Given the description of an element on the screen output the (x, y) to click on. 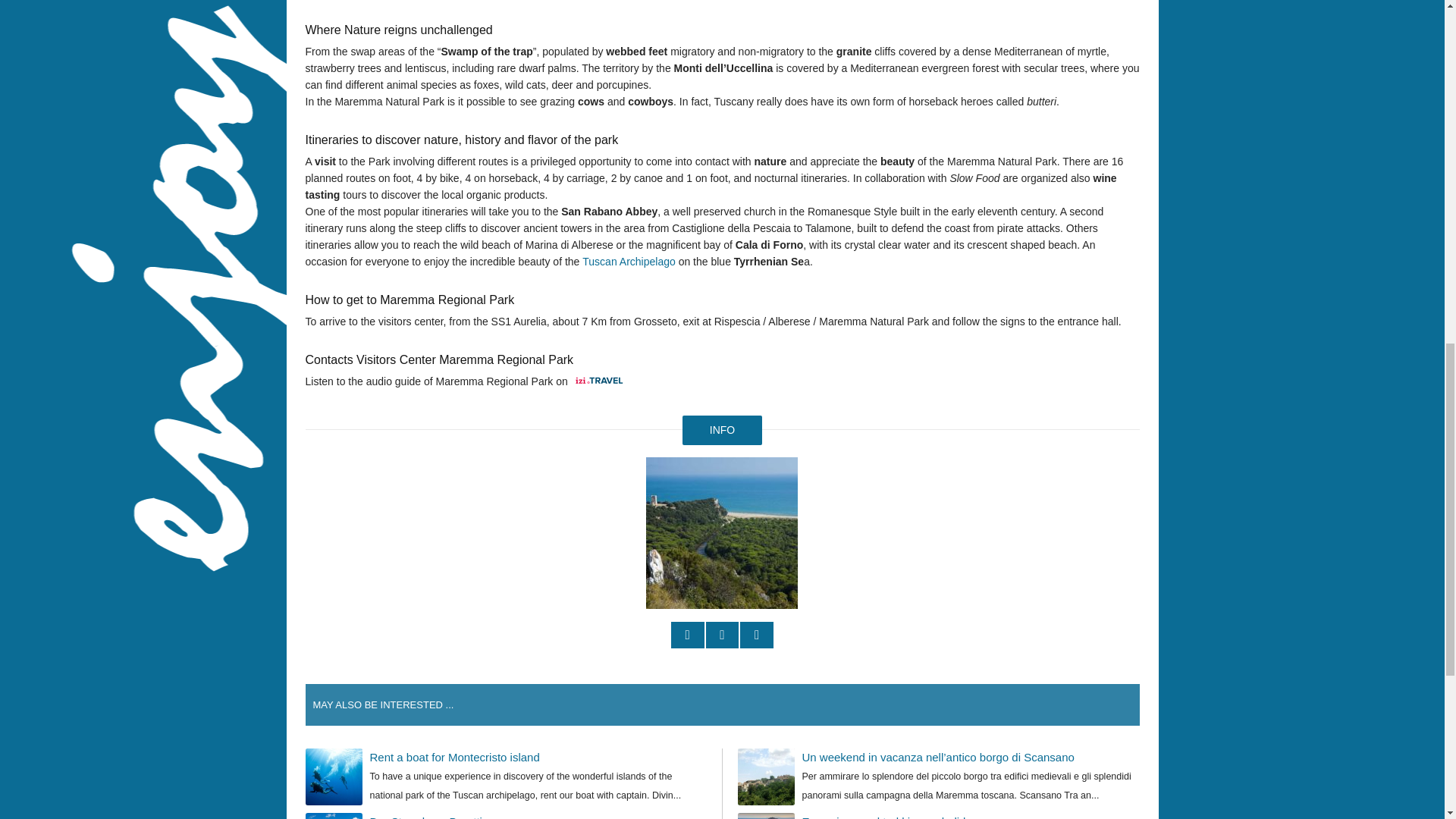
Maremma Regional Park (721, 533)
